Given the description of an element on the screen output the (x, y) to click on. 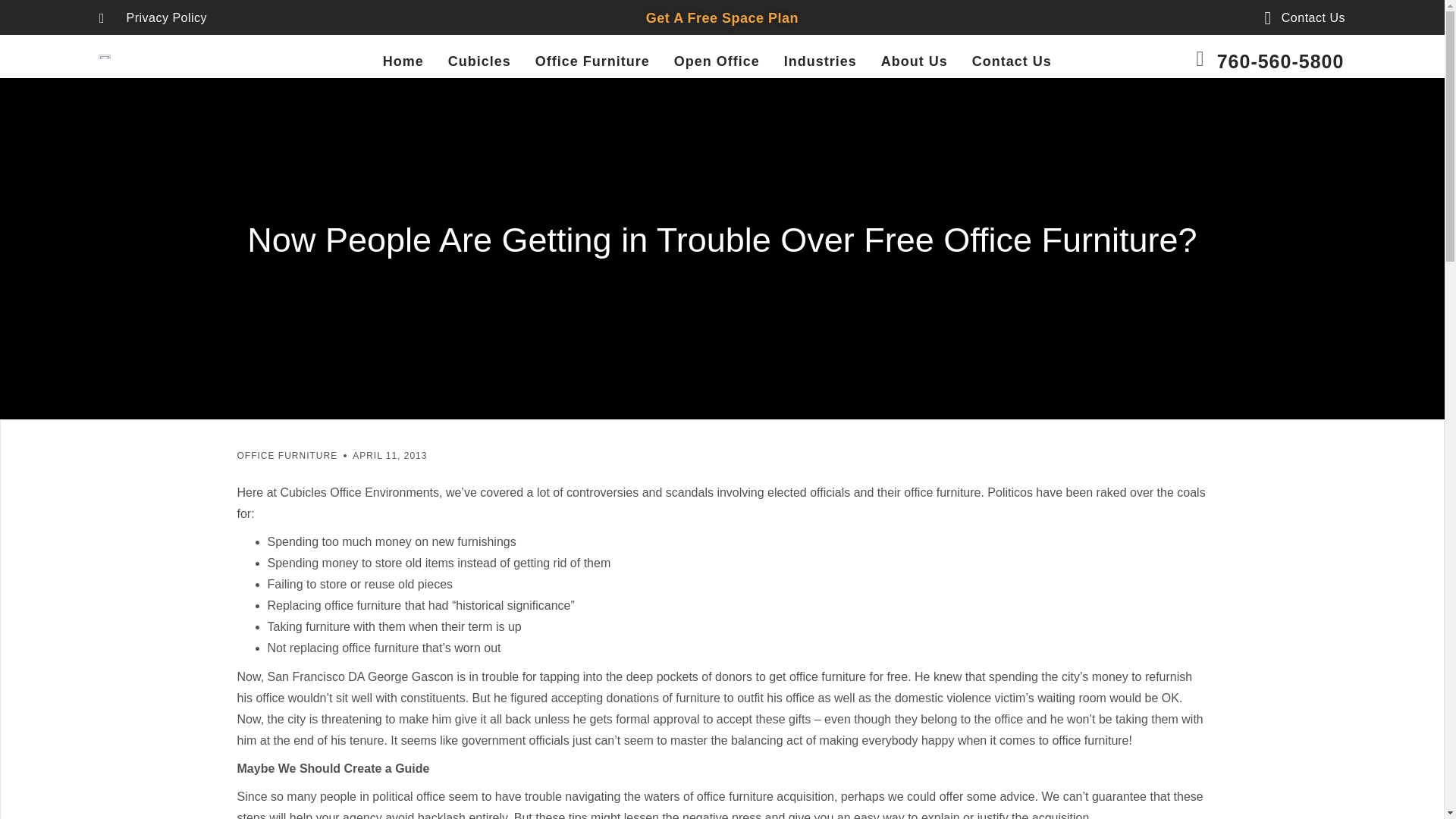
Home (402, 61)
Industries (820, 61)
Office Furniture (592, 61)
Contact Us (1297, 18)
Cubicles (479, 61)
Open Office (717, 61)
Privacy Policy (152, 18)
About Us (913, 61)
